Given the description of an element on the screen output the (x, y) to click on. 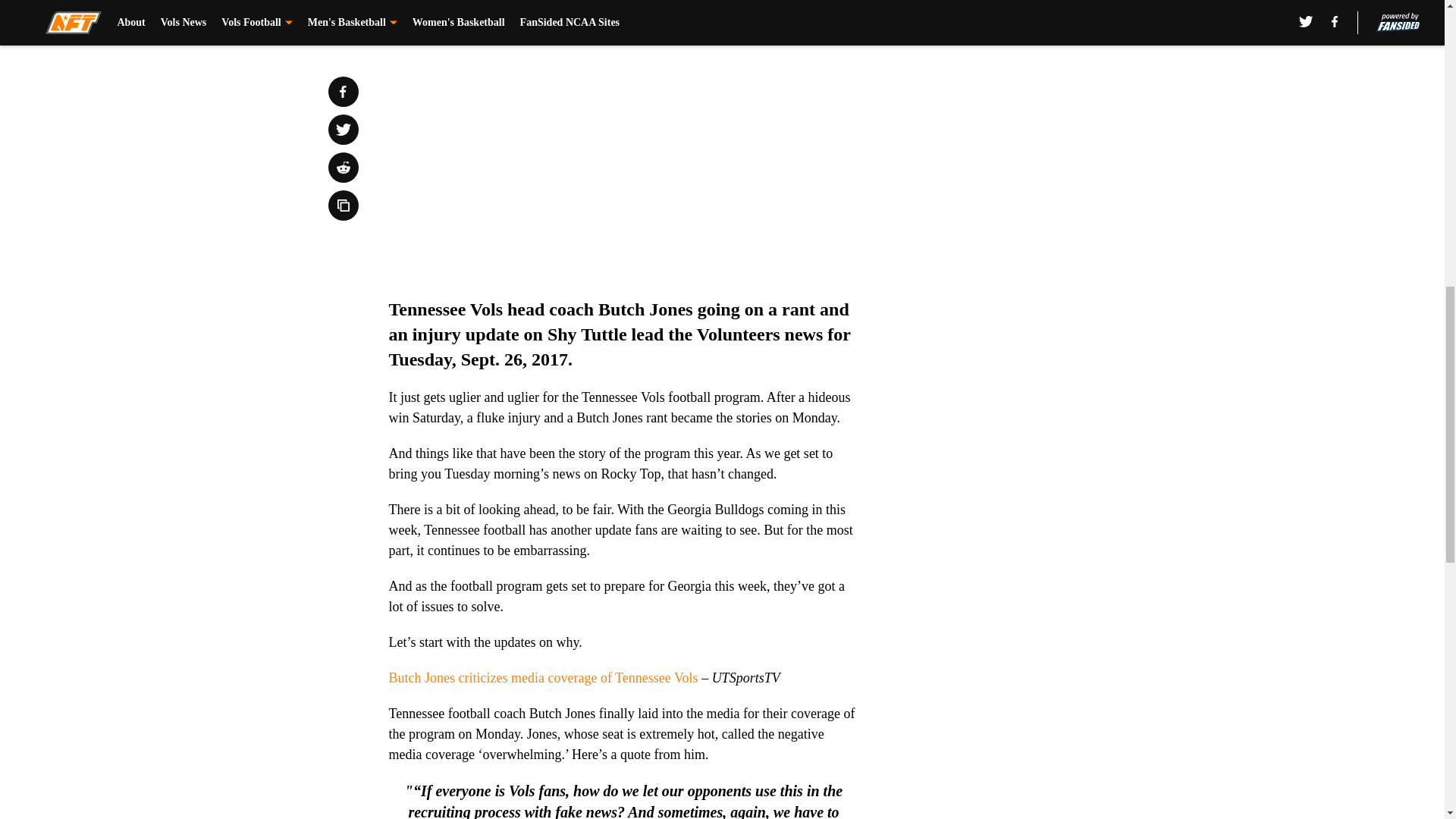
Butch Jones criticizes media coverage of Tennessee Vols (542, 677)
